Given the description of an element on the screen output the (x, y) to click on. 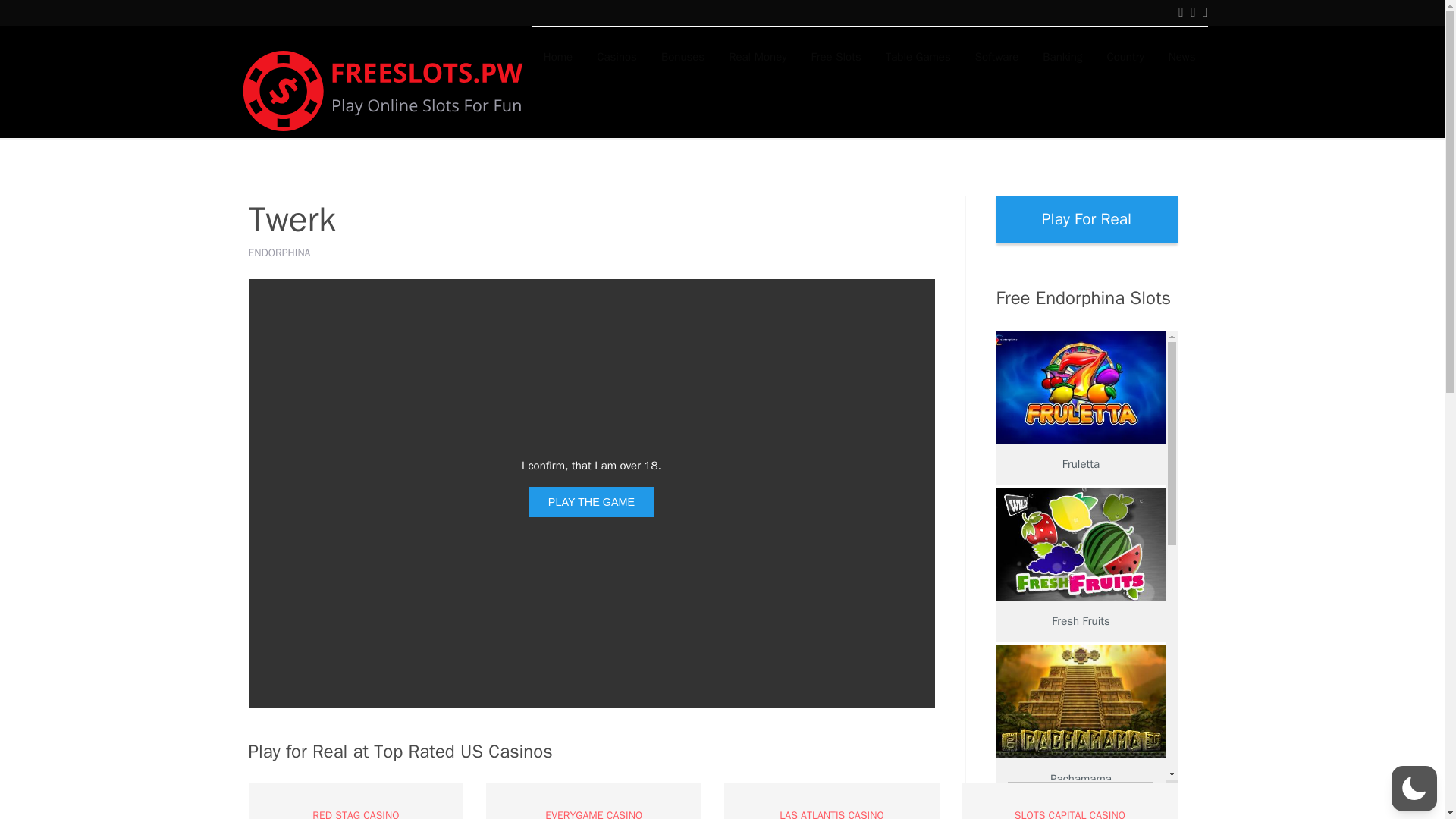
Fresh fruits (1080, 543)
Bonuses (682, 56)
Casinos (617, 56)
Buffalo 50 (1080, 810)
Free Slots (836, 56)
Pachamama (1080, 700)
Fruletta (1080, 386)
Table Games (917, 56)
Banking (1062, 56)
Real Money (756, 56)
Software (996, 56)
